Given the description of an element on the screen output the (x, y) to click on. 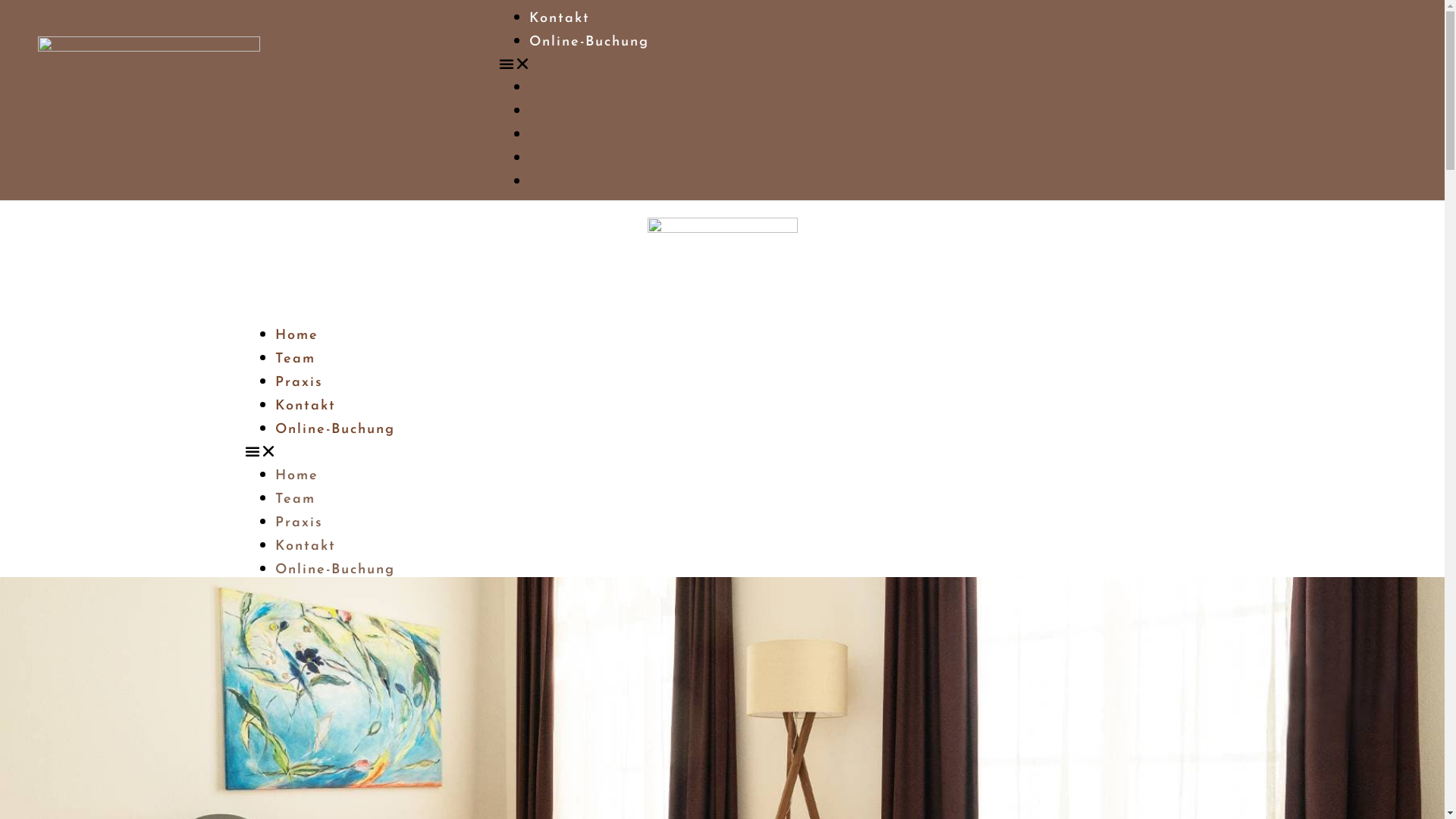
Online-Buchung Element type: text (589, 41)
Team Element type: text (294, 358)
Praxis Element type: text (298, 522)
Praxis Element type: text (298, 382)
Home Element type: text (550, 88)
Home Element type: text (295, 335)
Online-Buchung Element type: text (589, 182)
Praxis Element type: text (553, 135)
Online-Buchung Element type: text (334, 429)
Kontakt Element type: text (559, 18)
Online-Buchung Element type: text (334, 569)
Team Element type: text (294, 499)
Kontakt Element type: text (304, 546)
Kontakt Element type: text (559, 158)
Kontakt Element type: text (304, 405)
Home Element type: text (295, 475)
Team Element type: text (549, 111)
